Given the description of an element on the screen output the (x, y) to click on. 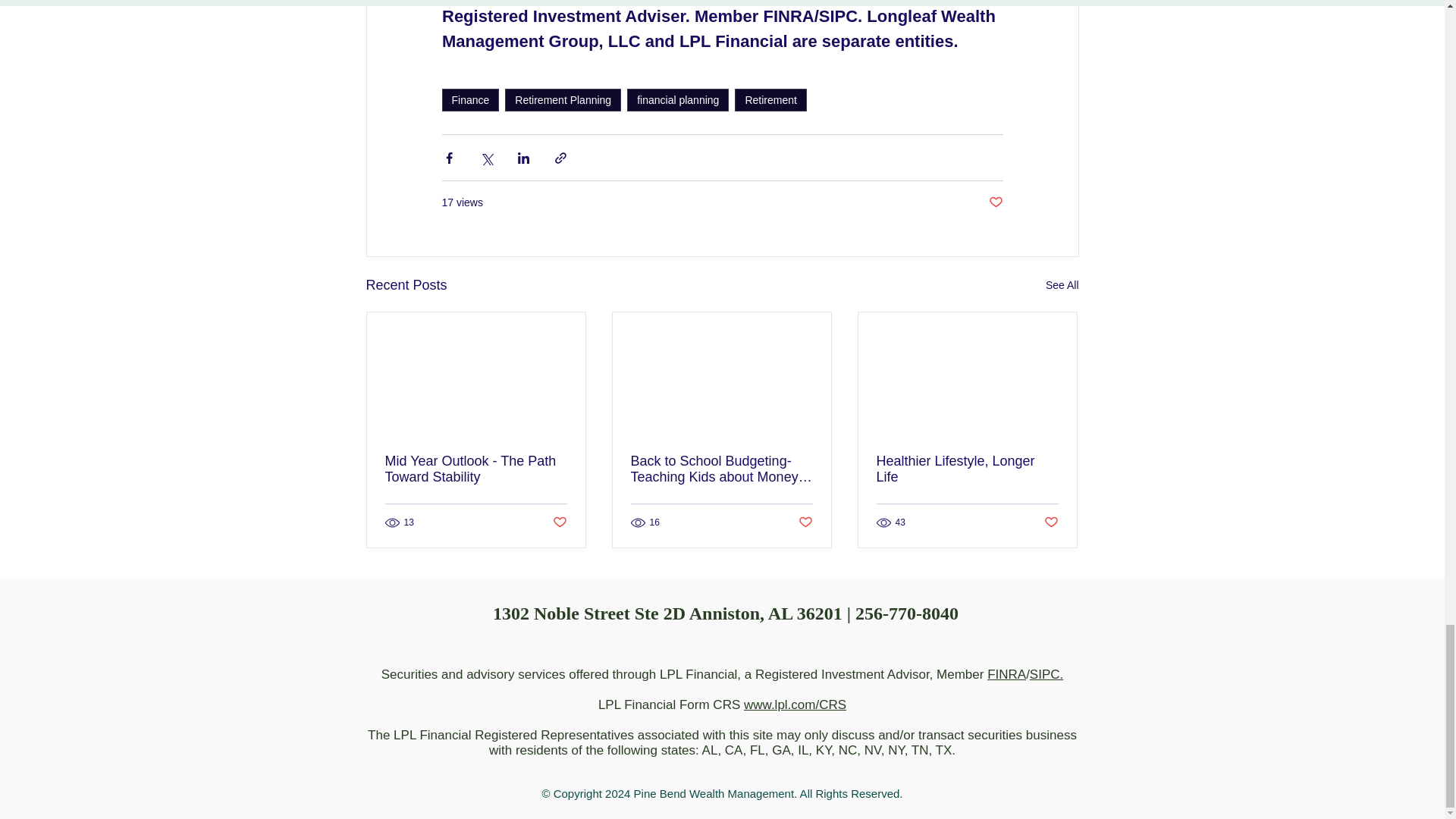
SIPC. (1045, 674)
Retirement Planning (563, 99)
Retirement (770, 99)
Post not marked as liked (804, 522)
Back to School Budgeting- Teaching Kids about Money Matters (721, 469)
Healthier Lifestyle, Longer Life (967, 469)
financial planning (678, 99)
FINRA (1006, 674)
Post not marked as liked (995, 202)
Finance (470, 99)
